Given the description of an element on the screen output the (x, y) to click on. 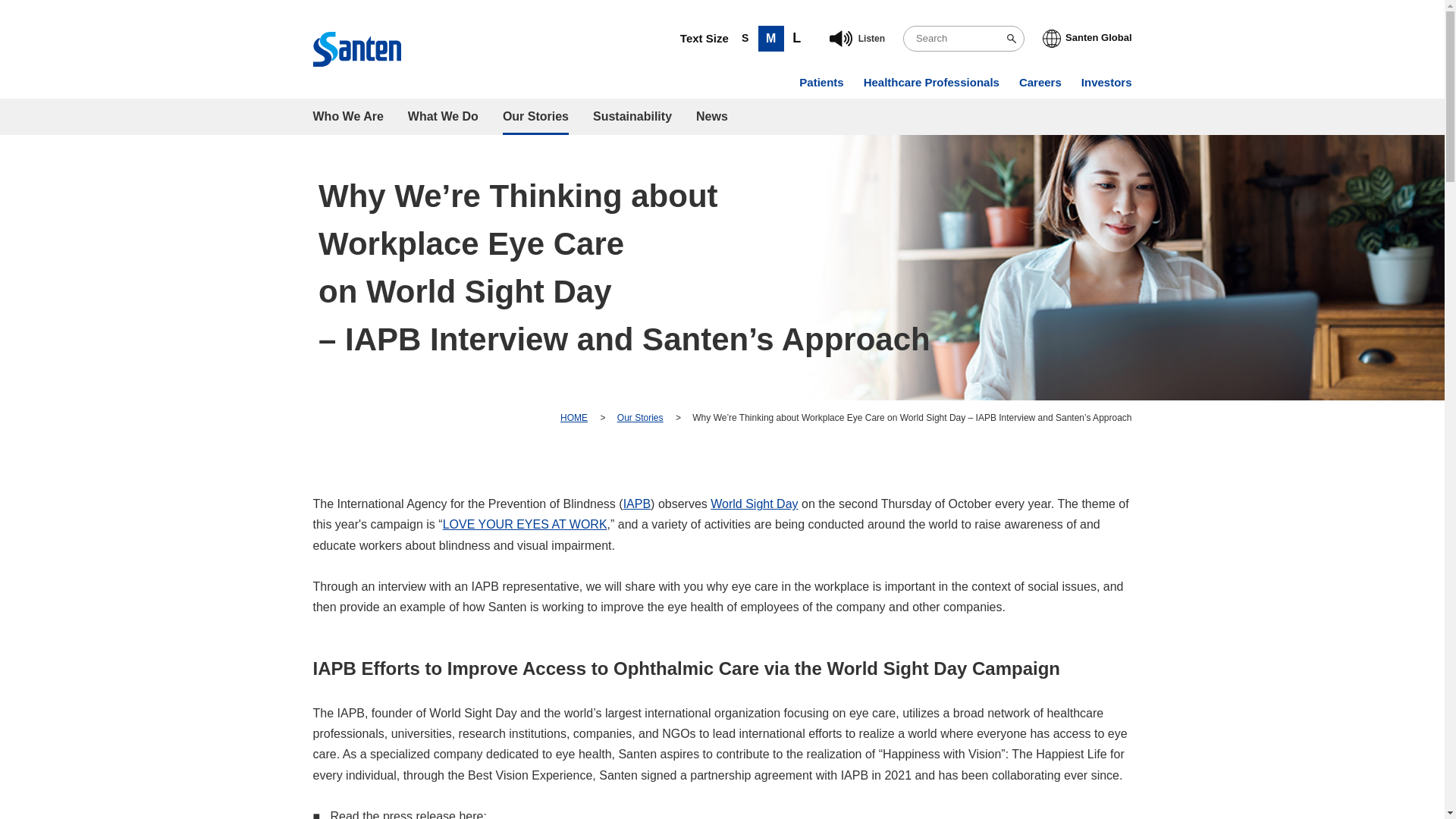
What We Do (443, 116)
Patients (821, 82)
Investors (1106, 82)
Listen (853, 38)
L (796, 38)
Search (1011, 38)
Who We Are (347, 116)
S (745, 38)
Santen Global (1086, 37)
Search (1011, 38)
